Given the description of an element on the screen output the (x, y) to click on. 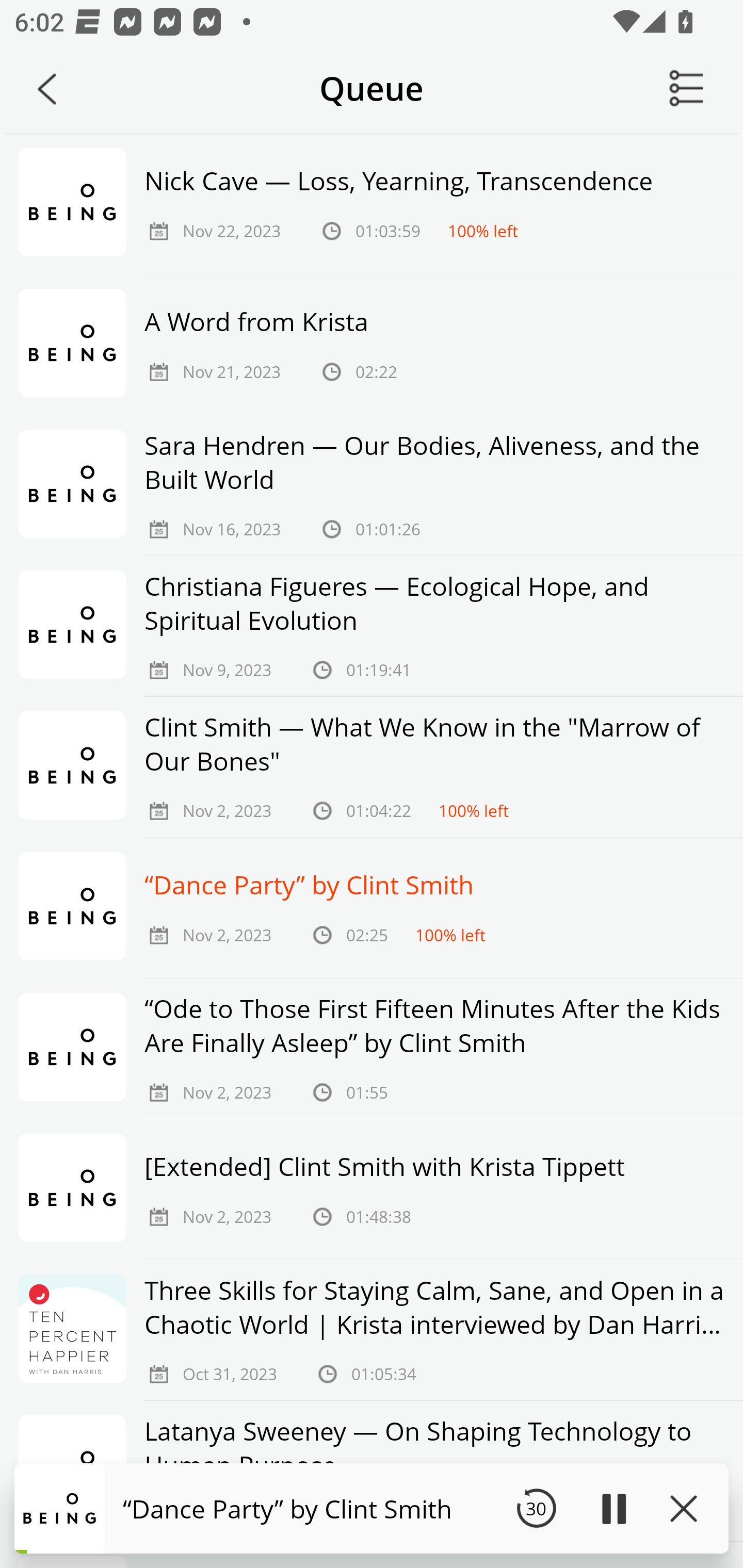
Back (46, 88)
A Word from Krista Nov 21, 2023 02:22 (371, 344)
Play (613, 1507)
30 Seek Backward (536, 1508)
